Given the description of an element on the screen output the (x, y) to click on. 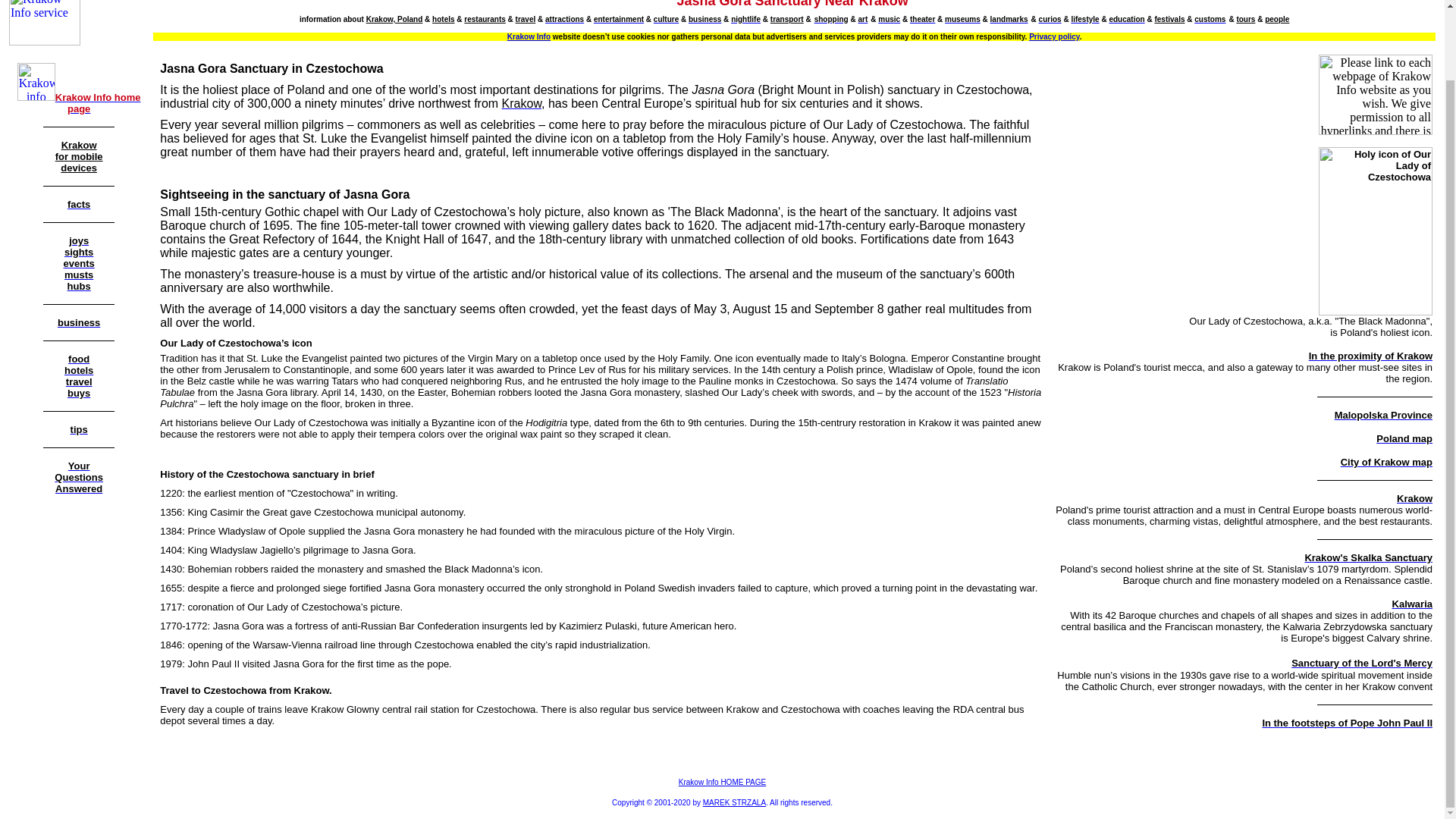
Privacy policy (1054, 36)
music (888, 17)
business (704, 17)
business (79, 321)
restaurants (484, 19)
theater (922, 17)
attractions (563, 17)
joys (78, 239)
Krakow Info home page (98, 102)
Krakow Info (528, 36)
culture (665, 17)
hubs (78, 285)
events (79, 262)
sights (78, 250)
museums (961, 17)
